Given the description of an element on the screen output the (x, y) to click on. 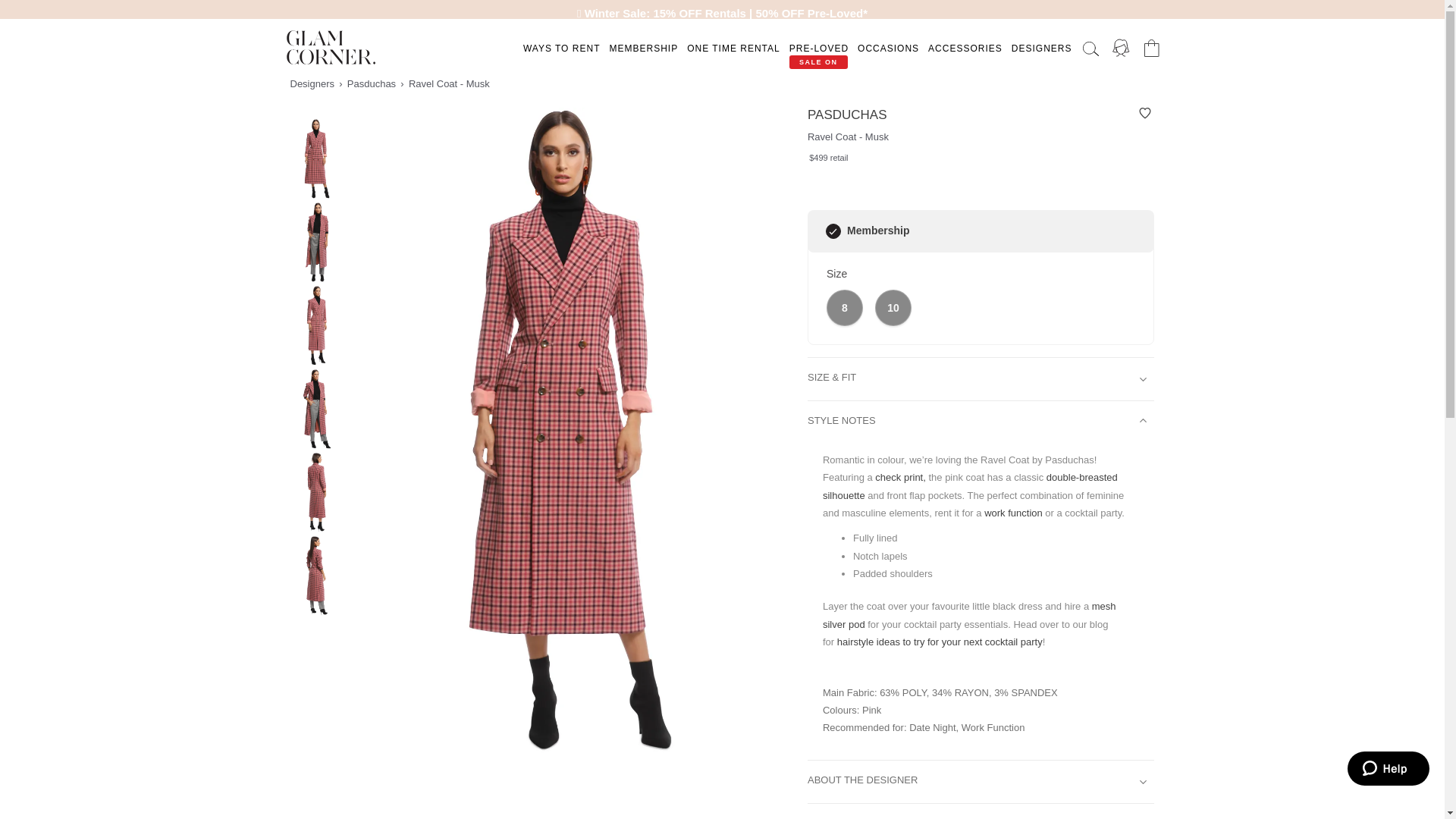
MEMBERSHIP (643, 48)
Rent Designer Dresses Online - Glam Corner (330, 47)
WAYS TO RENT (561, 48)
